Given the description of an element on the screen output the (x, y) to click on. 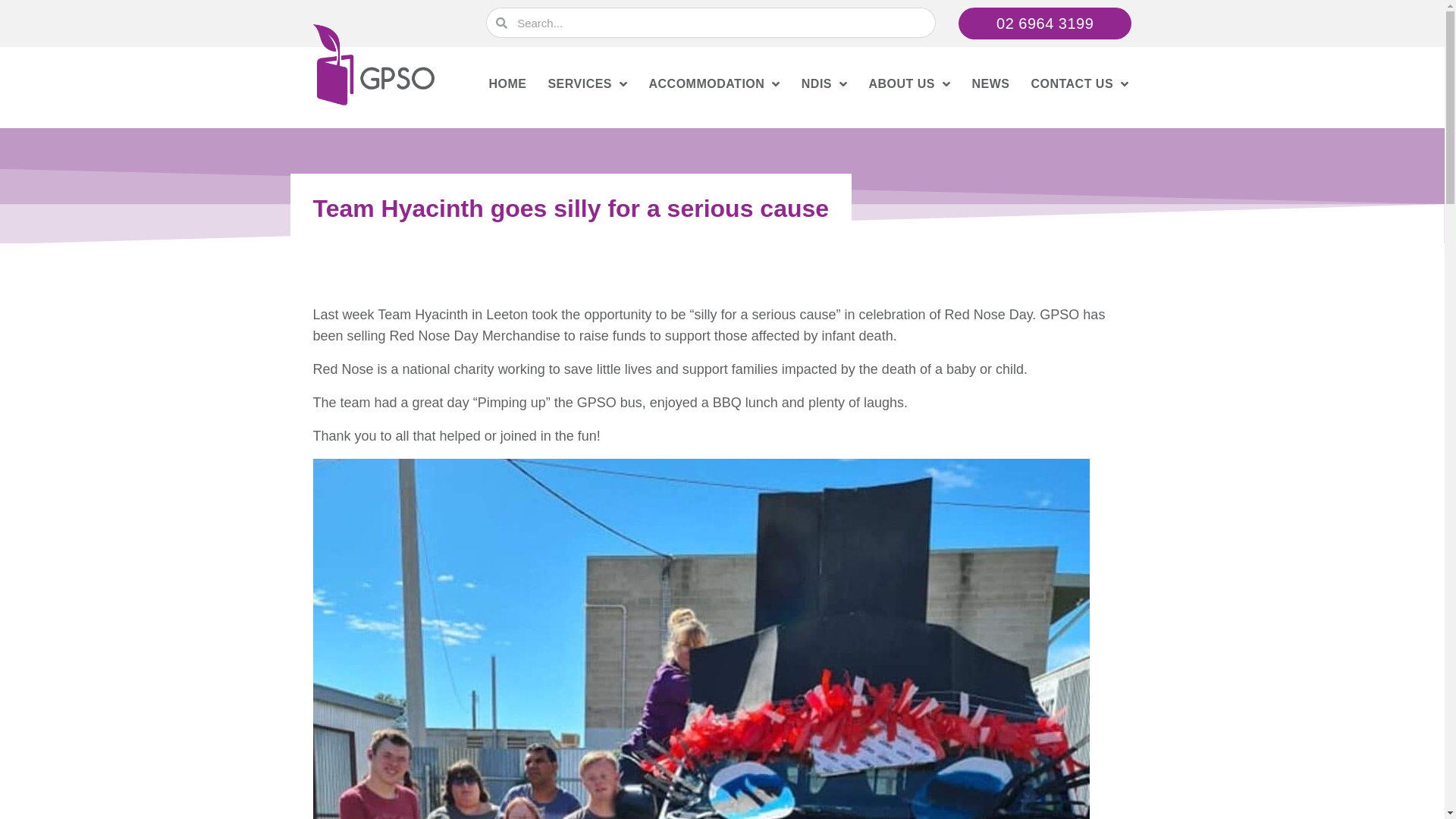
ACCOMMODATION Element type: text (714, 83)
CONTACT US Element type: text (1079, 83)
ABOUT US Element type: text (909, 83)
NDIS Element type: text (824, 83)
NEWS Element type: text (990, 83)
02 6964 3199 Element type: text (1045, 23)
HOME Element type: text (507, 83)
SERVICES Element type: text (587, 83)
